Given the description of an element on the screen output the (x, y) to click on. 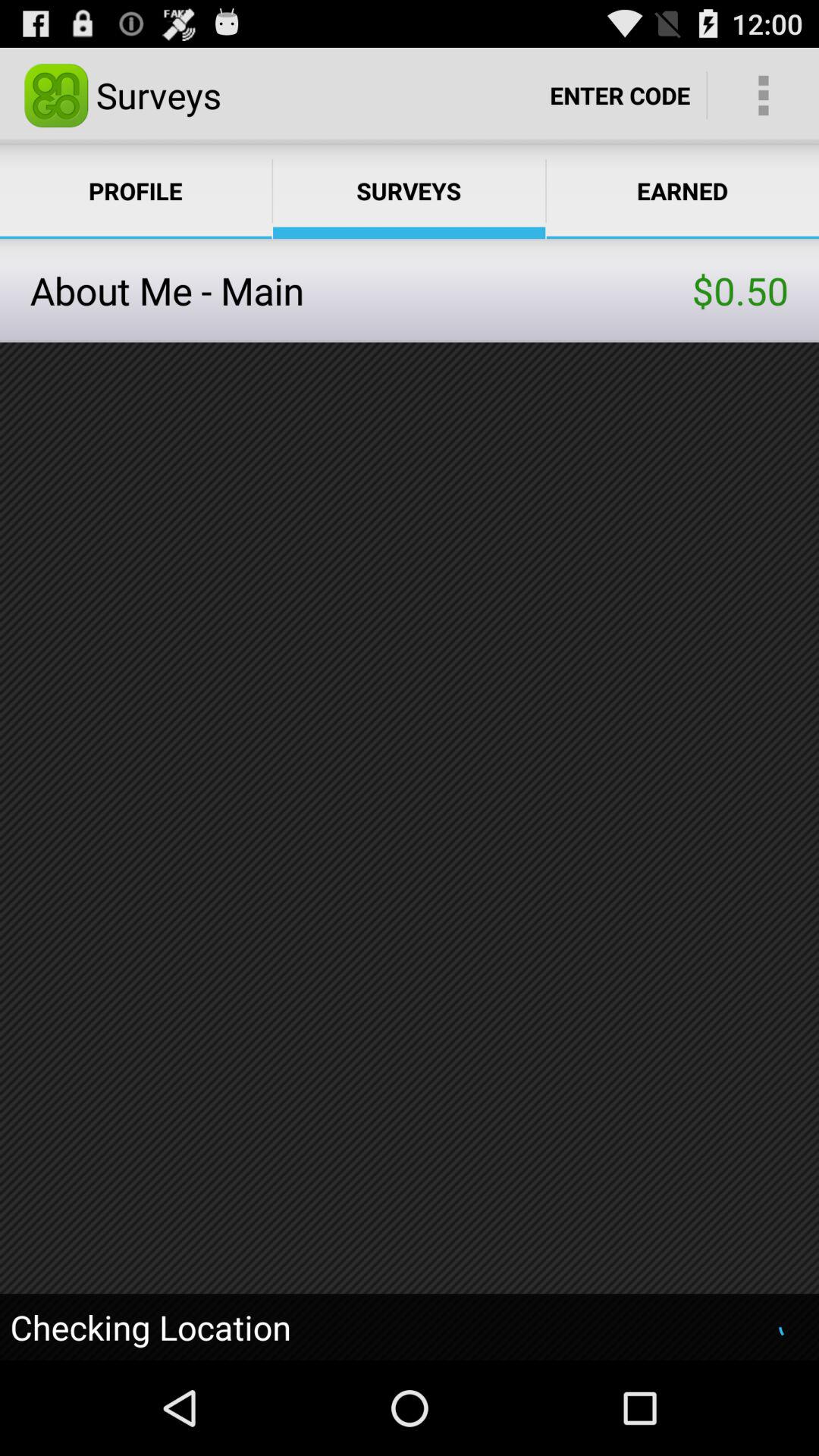
turn off the item next to $0.50 item (361, 290)
